Given the description of an element on the screen output the (x, y) to click on. 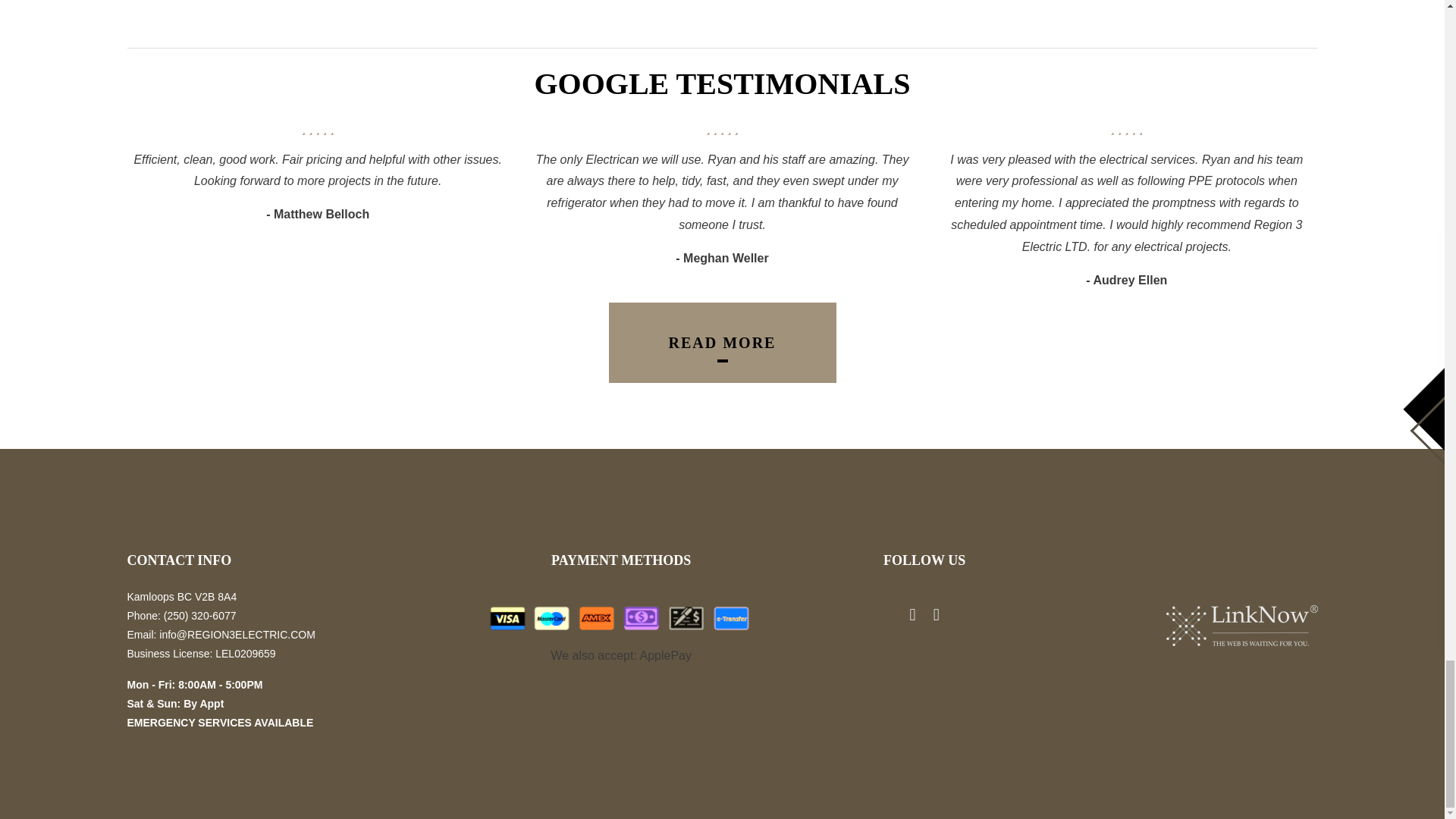
Visa (506, 617)
Region 3 Electric LTD's Google Maps (936, 615)
Cash (642, 617)
Mastercard (551, 617)
E-Transfer (730, 617)
Check (685, 617)
American Express (596, 617)
